Given the description of an element on the screen output the (x, y) to click on. 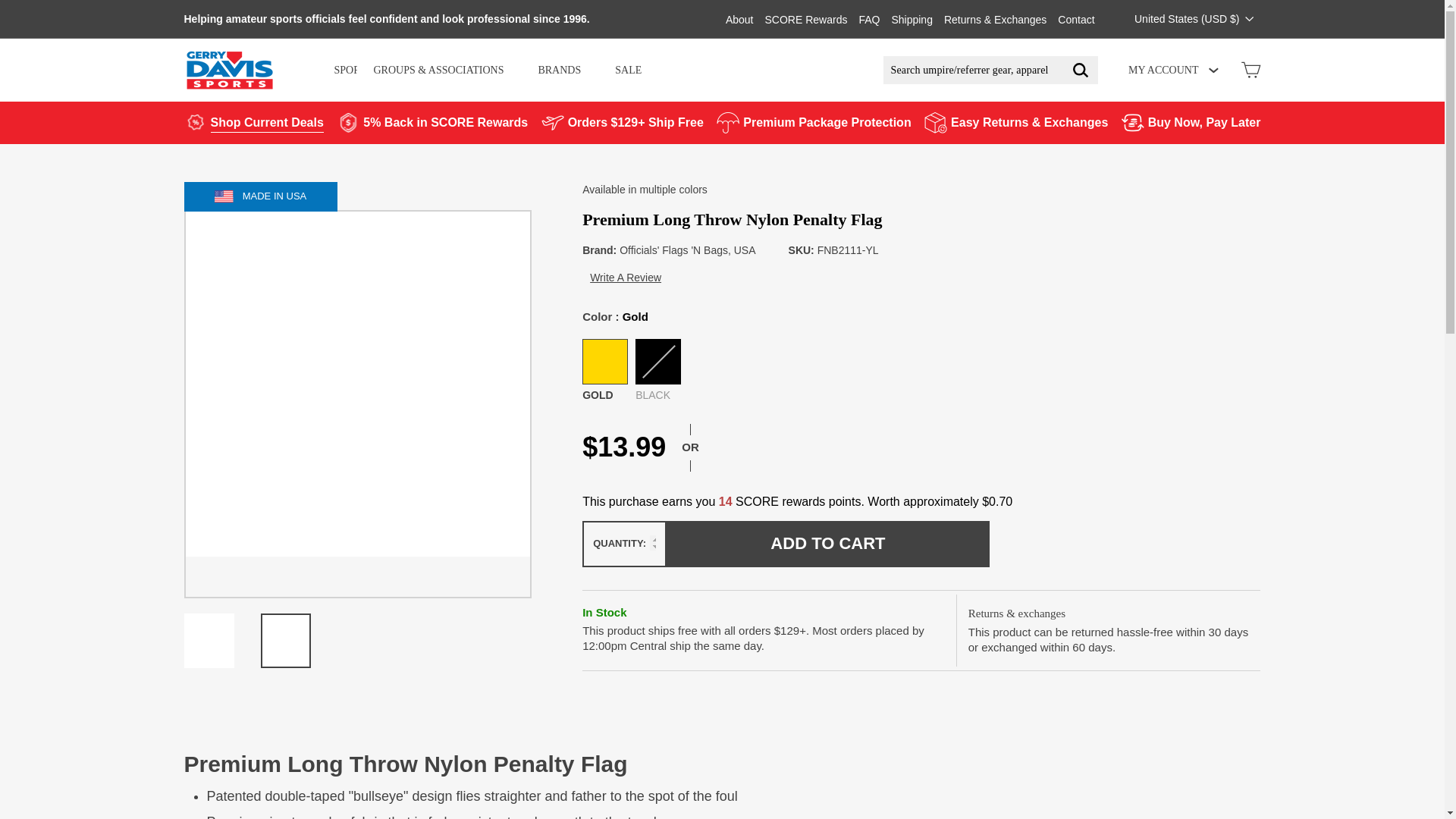
FAQ (869, 18)
Contact (1076, 18)
About (739, 18)
Shipping (912, 18)
SCORE Rewards (805, 18)
